Given the description of an element on the screen output the (x, y) to click on. 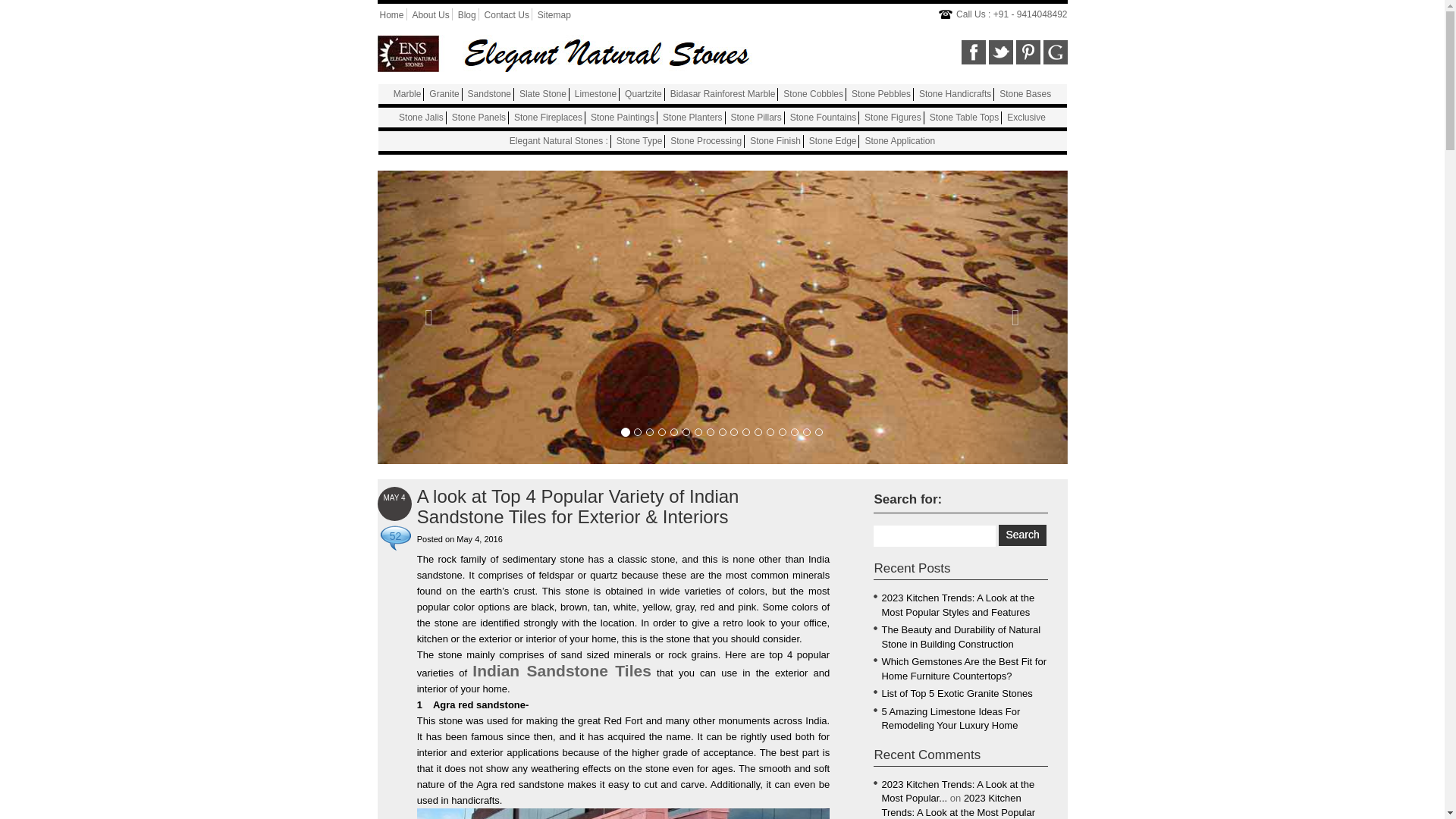
Contact Us (506, 14)
Sandstone (489, 93)
Stone Jalis (421, 117)
Stone Planters (692, 117)
Stone Fountains (823, 117)
Bidasar Rainforest Marble (722, 93)
Stone Finish (774, 140)
Home (390, 14)
About Us (430, 14)
Stone Figures (892, 117)
Stone Paintings (622, 117)
Stone Table Tops (964, 117)
Stone Processing (705, 140)
Stone Edge (833, 140)
Slate Stone (542, 93)
